Given the description of an element on the screen output the (x, y) to click on. 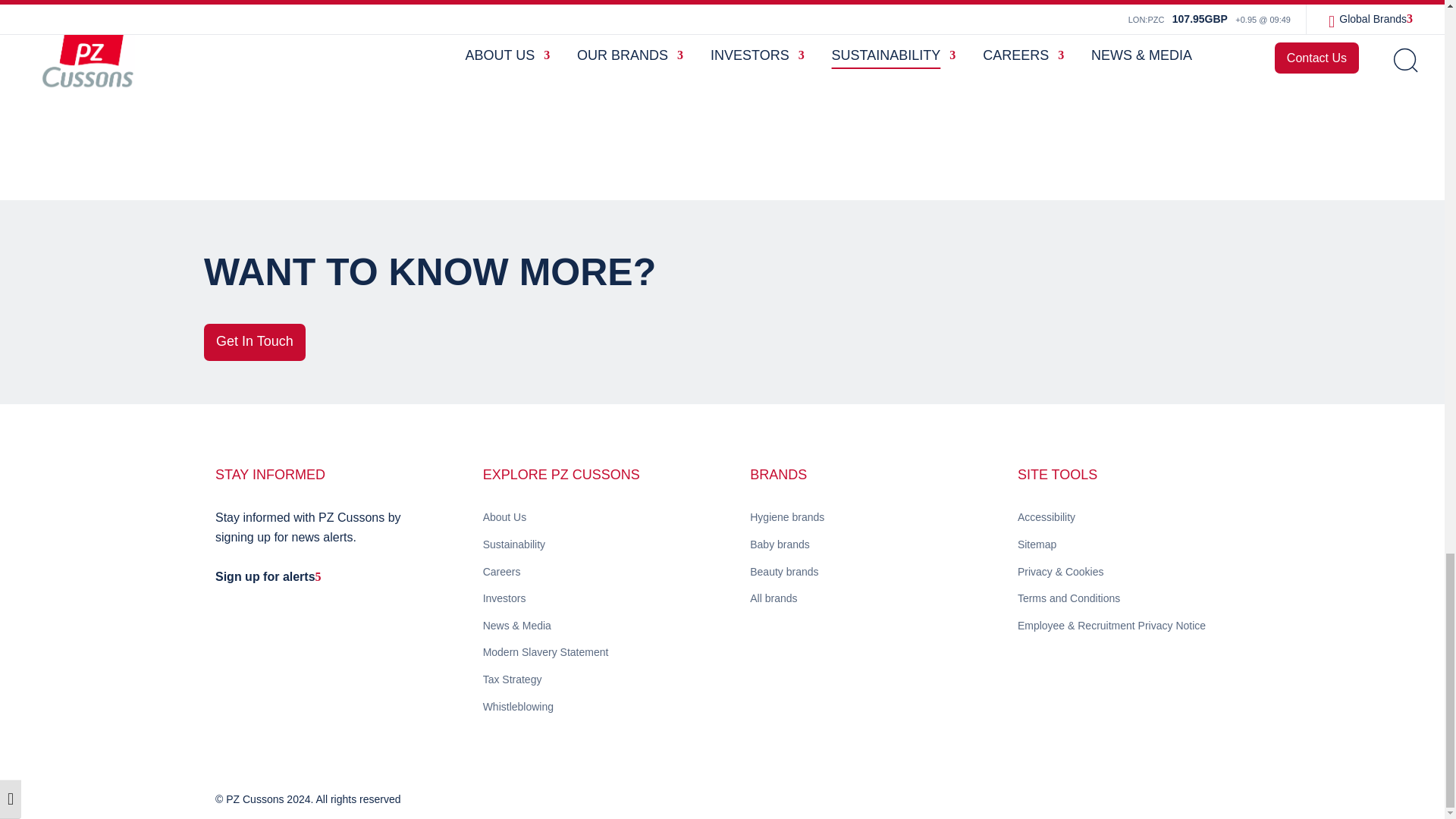
PZ SR p07 (1050, 43)
